Given the description of an element on the screen output the (x, y) to click on. 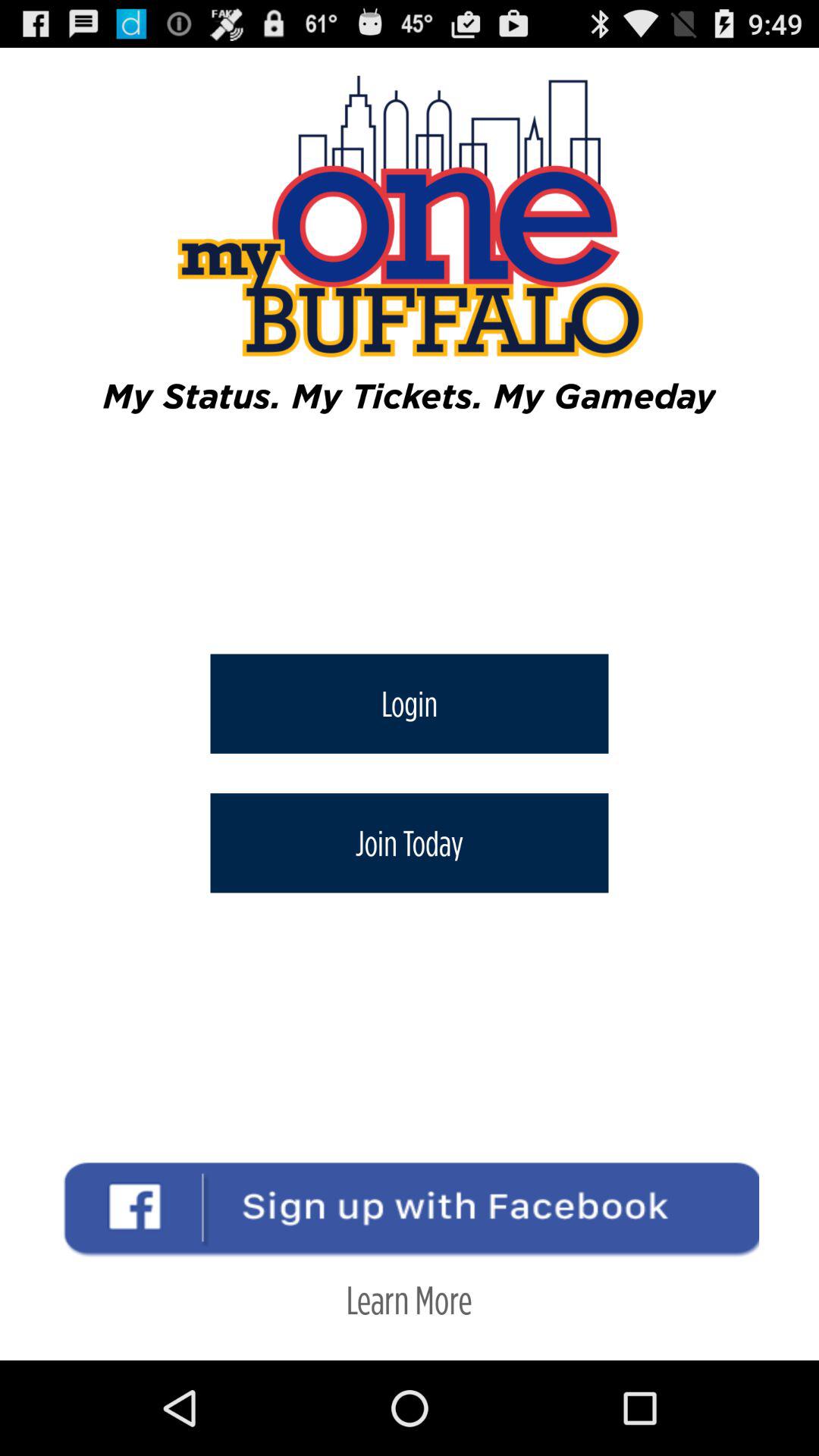
launch icon below login button (409, 842)
